Given the description of an element on the screen output the (x, y) to click on. 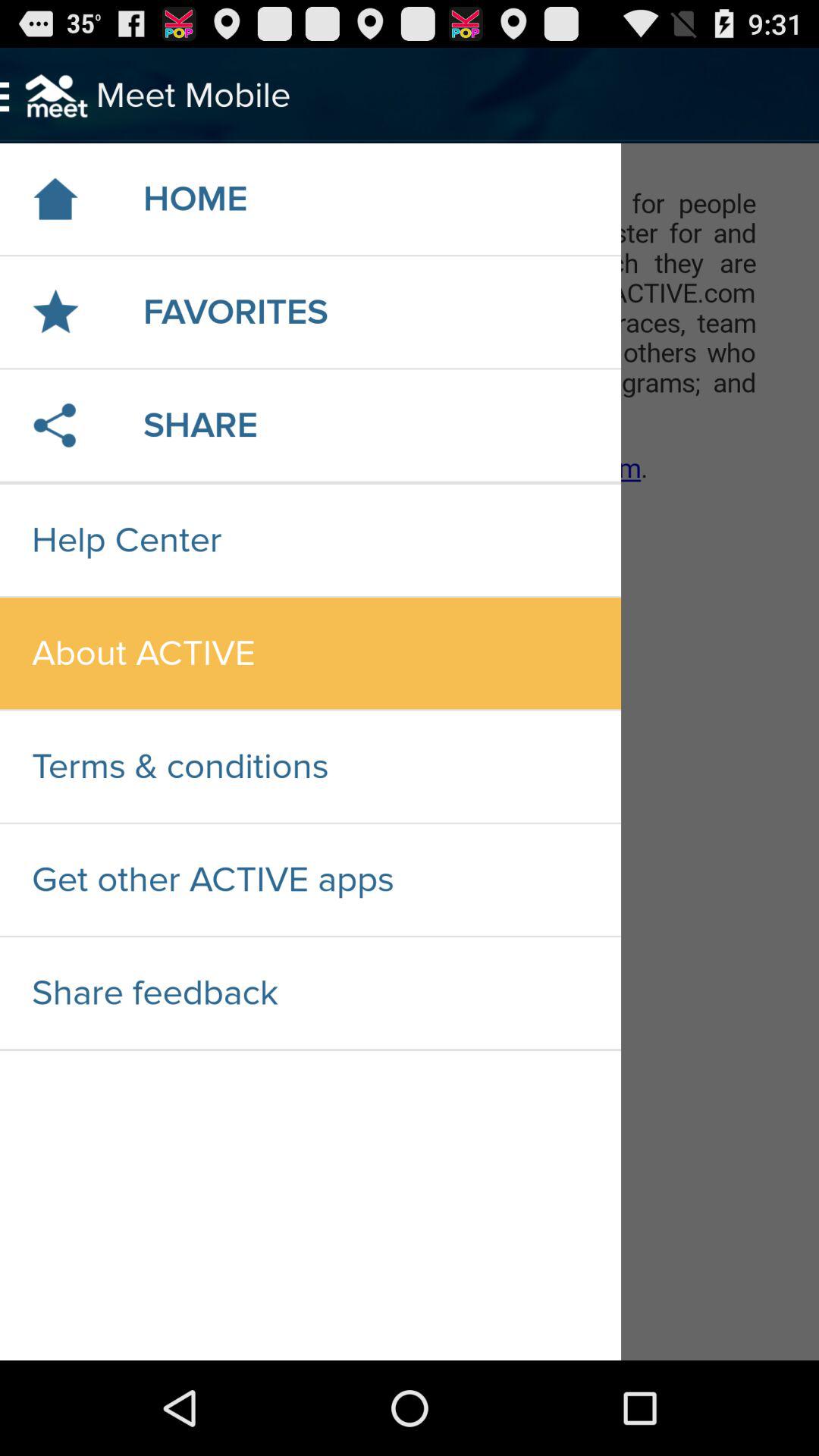
flip to the favorites (235, 311)
